Given the description of an element on the screen output the (x, y) to click on. 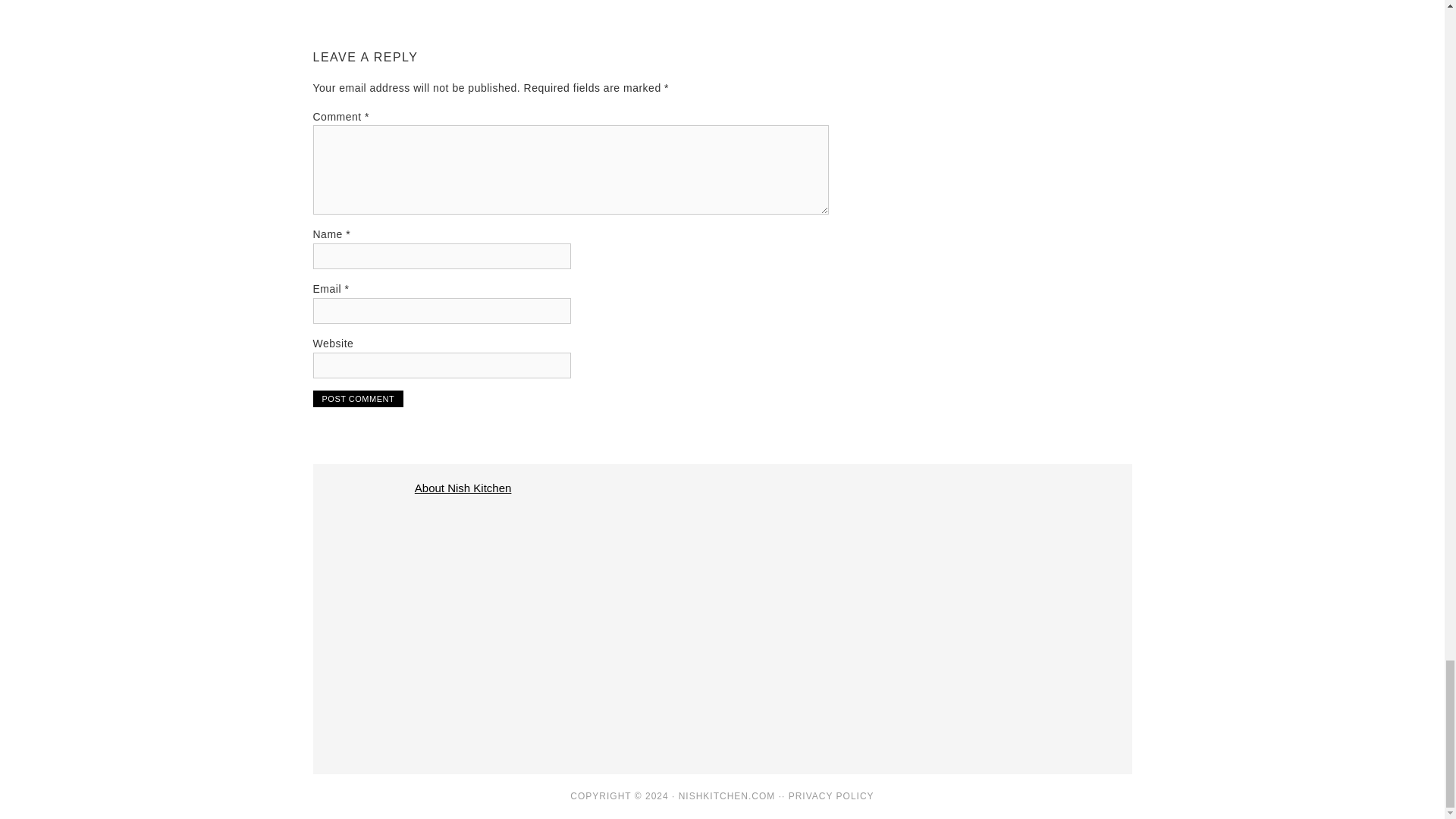
Post Comment (358, 398)
About Nish Kitchen (463, 487)
PRIVACY POLICY (832, 796)
Post Comment (358, 398)
